Given the description of an element on the screen output the (x, y) to click on. 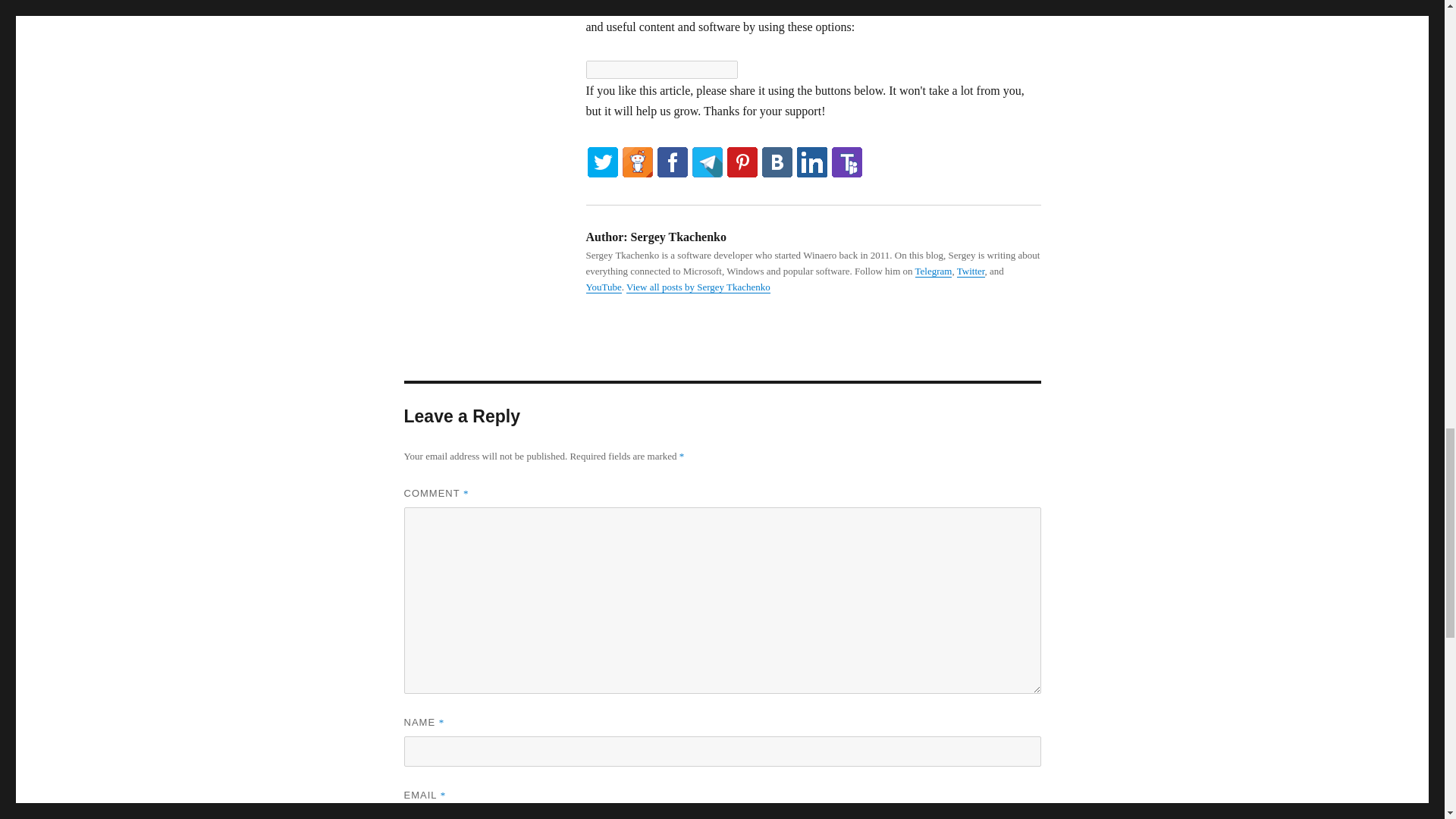
View all posts by Sergey Tkachenko (698, 286)
YouTube (603, 286)
Twitter (970, 270)
Telegram (933, 270)
